Given the description of an element on the screen output the (x, y) to click on. 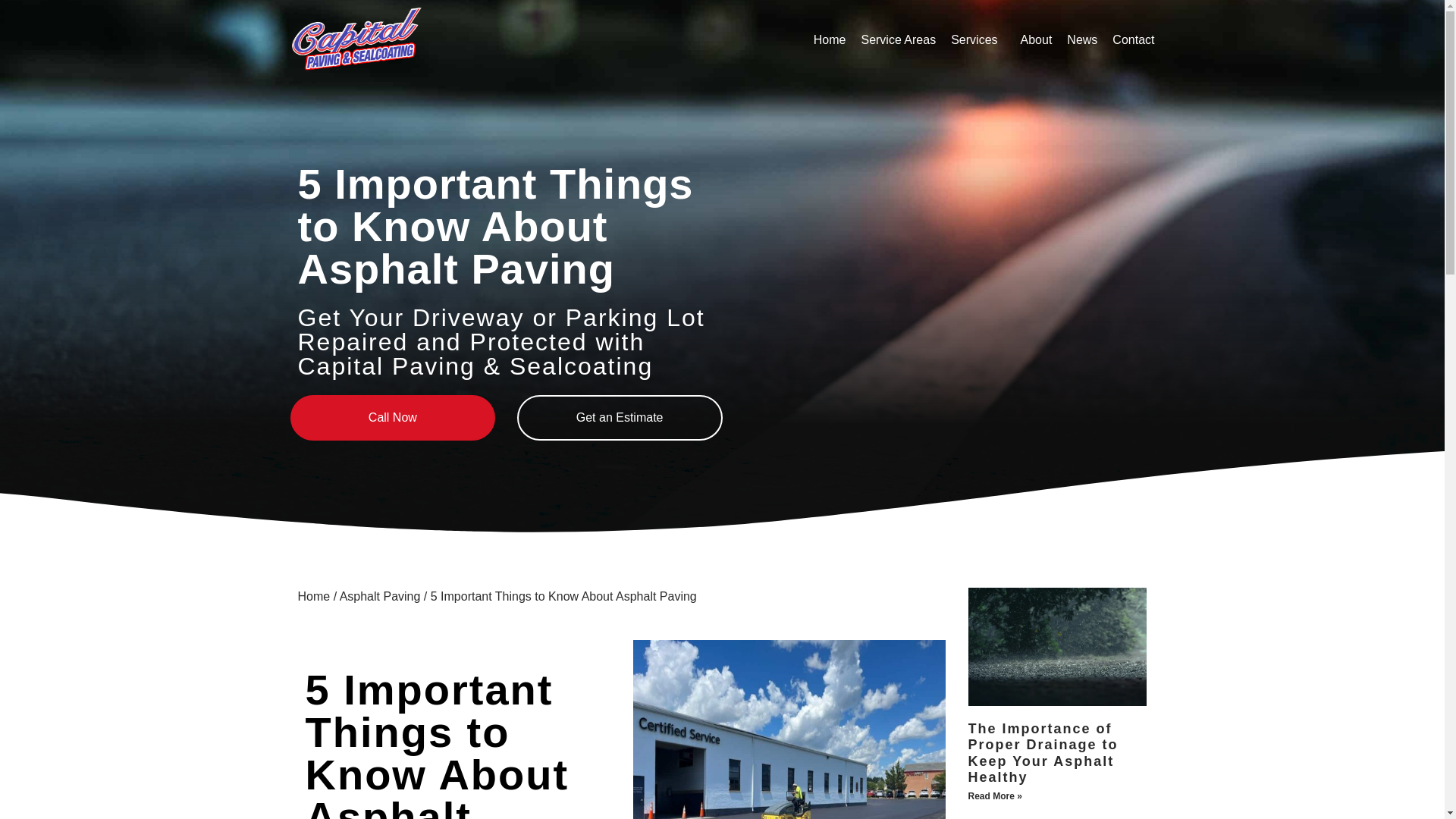
News (1082, 40)
Service Areas (898, 40)
Services (977, 40)
Contact (1133, 40)
Home (829, 40)
About (1036, 40)
